Given the description of an element on the screen output the (x, y) to click on. 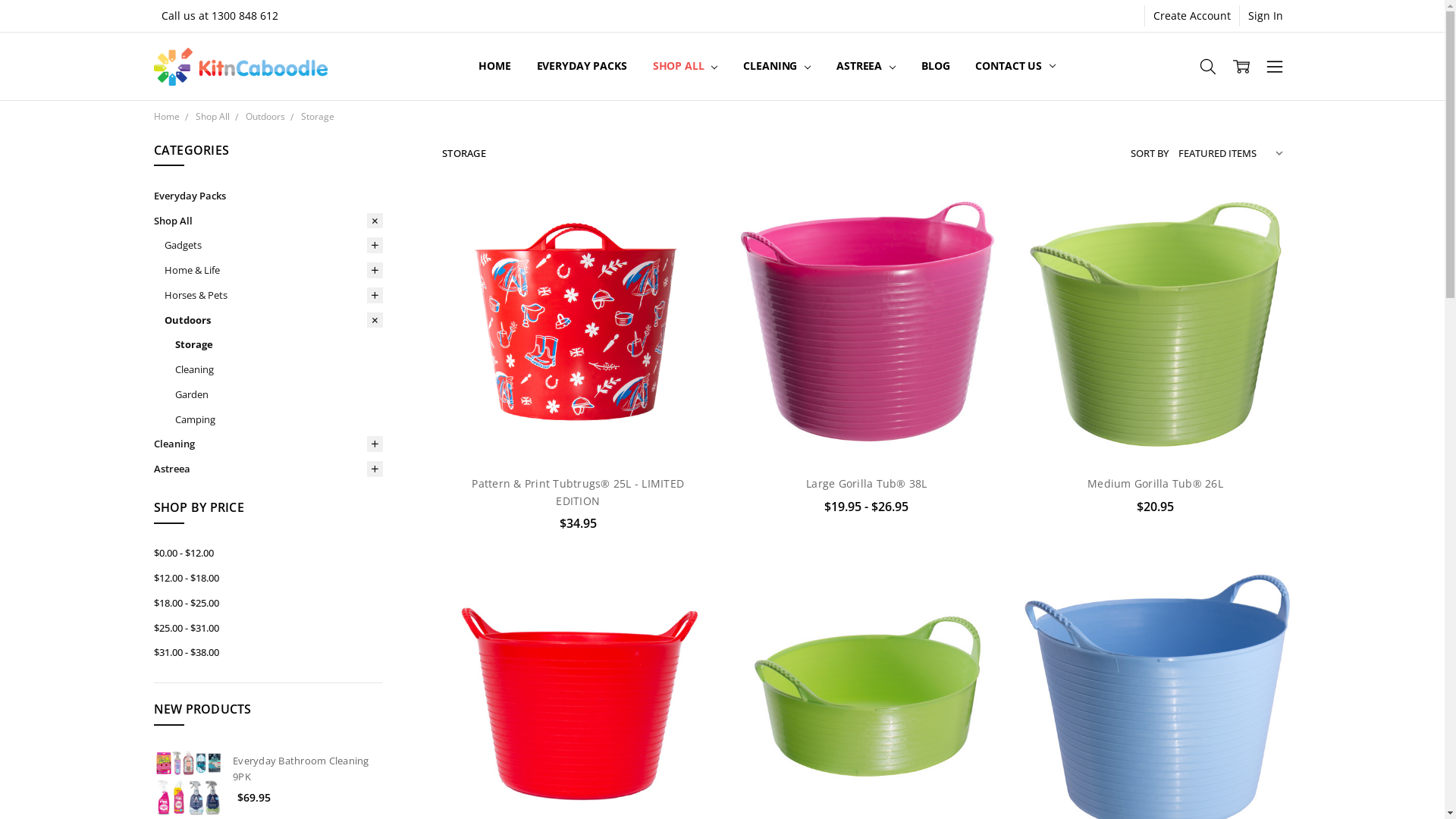
Shop All Element type: text (212, 115)
$18.00 - $25.00 Element type: text (267, 602)
Outdoors Element type: text (265, 115)
SHOP ALL Element type: text (685, 66)
Outdoors Element type: text (272, 319)
$31.00 - $38.00 Element type: text (267, 652)
Everyday Packs Element type: text (267, 195)
Everyday Bathroom Cleaning 9PK Element type: hover (187, 781)
Home & Life Element type: text (272, 269)
$12.00 - $18.00 Element type: text (267, 577)
CONTACT US Element type: text (1014, 66)
HOME Element type: text (494, 66)
Call us at 1300 848 612 Element type: text (219, 15)
Gadgets Element type: text (272, 244)
Home Element type: text (165, 115)
$25.00 - $31.00 Element type: text (267, 627)
Show All Element type: hover (486, 66)
Sign In Element type: text (1265, 15)
CLEANING Element type: text (776, 66)
Cleaning Element type: text (278, 369)
Horses & Pets Element type: text (272, 294)
Garden Element type: text (278, 394)
Everyday Bathroom Cleaning 9PK Element type: text (300, 768)
BLOG Element type: text (935, 66)
Storage Element type: text (316, 115)
ASTREEA Element type: text (865, 66)
KitnCaboodle Element type: hover (239, 66)
EVERYDAY PACKS Element type: text (582, 66)
Astreea Element type: text (267, 468)
Cleaning Element type: text (267, 443)
Storage Element type: text (278, 344)
Shop All Element type: text (267, 220)
Create Account Element type: text (1192, 15)
Camping Element type: text (278, 419)
$0.00 - $12.00 Element type: text (267, 552)
